Given the description of an element on the screen output the (x, y) to click on. 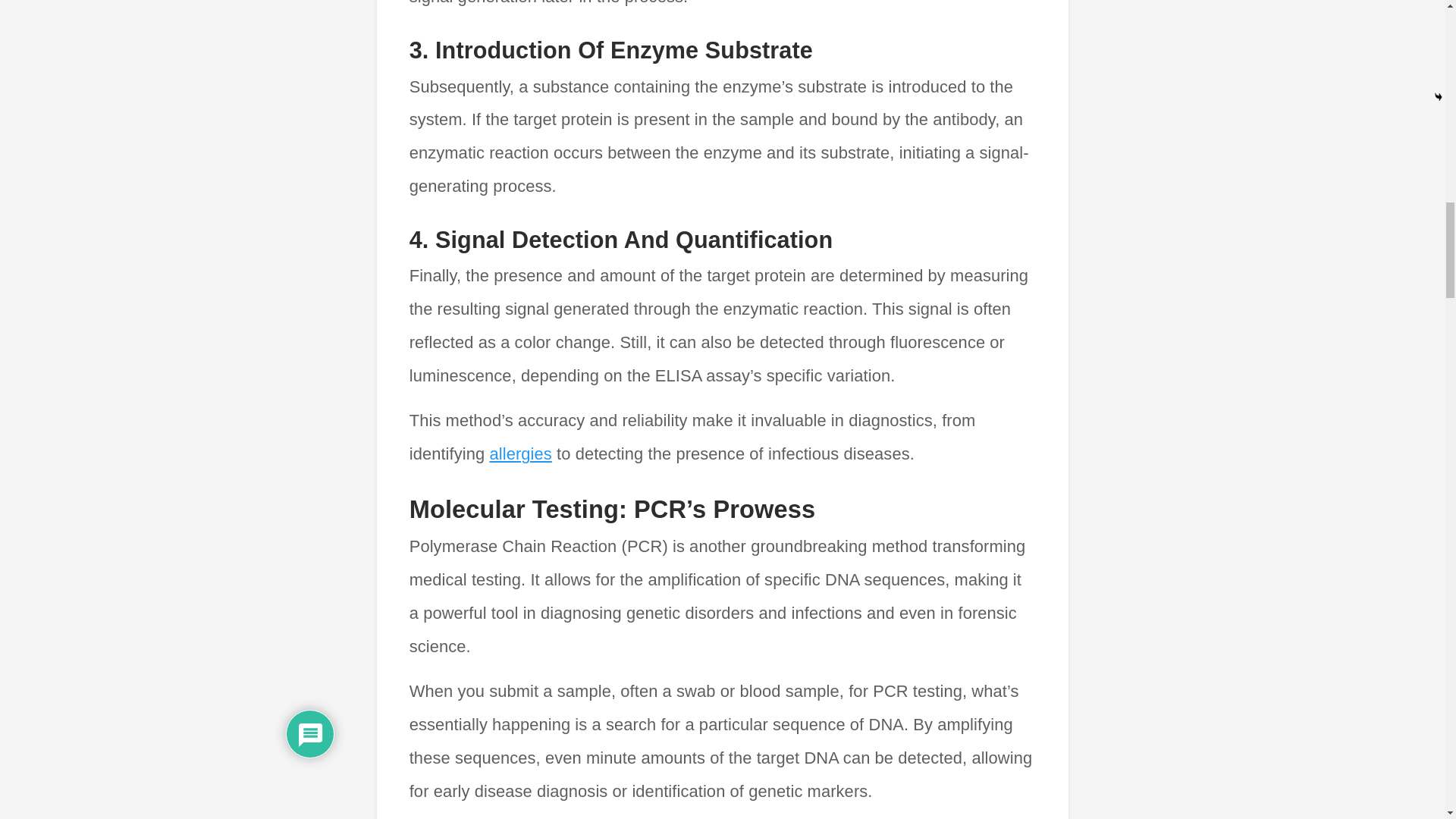
allergies (520, 453)
